Given the description of an element on the screen output the (x, y) to click on. 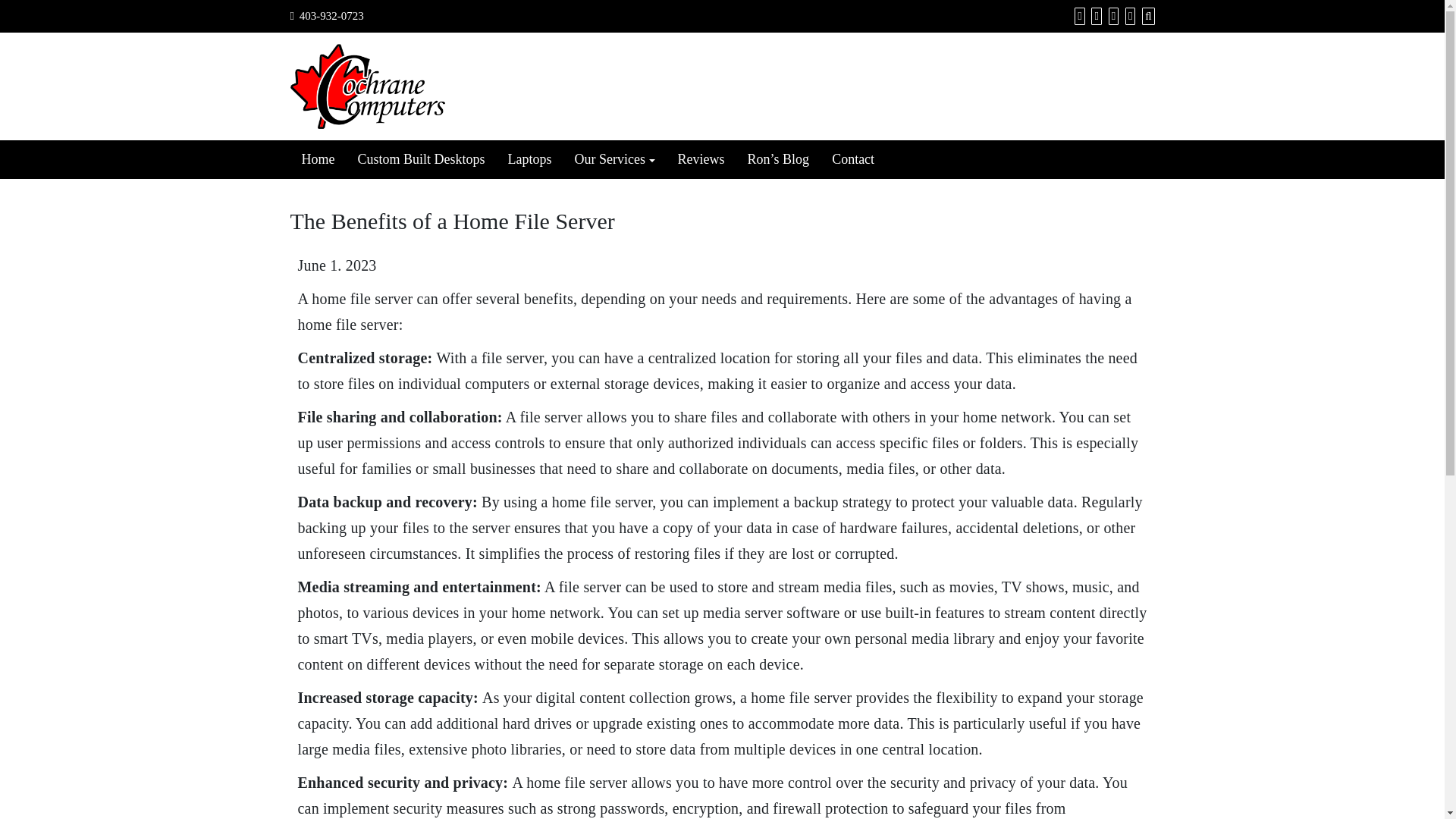
Home (317, 159)
403-932-0723 (331, 15)
Custom Built Desktops (421, 159)
Our Services (614, 159)
Contact (853, 159)
Laptops (529, 159)
Reviews (701, 159)
